Given the description of an element on the screen output the (x, y) to click on. 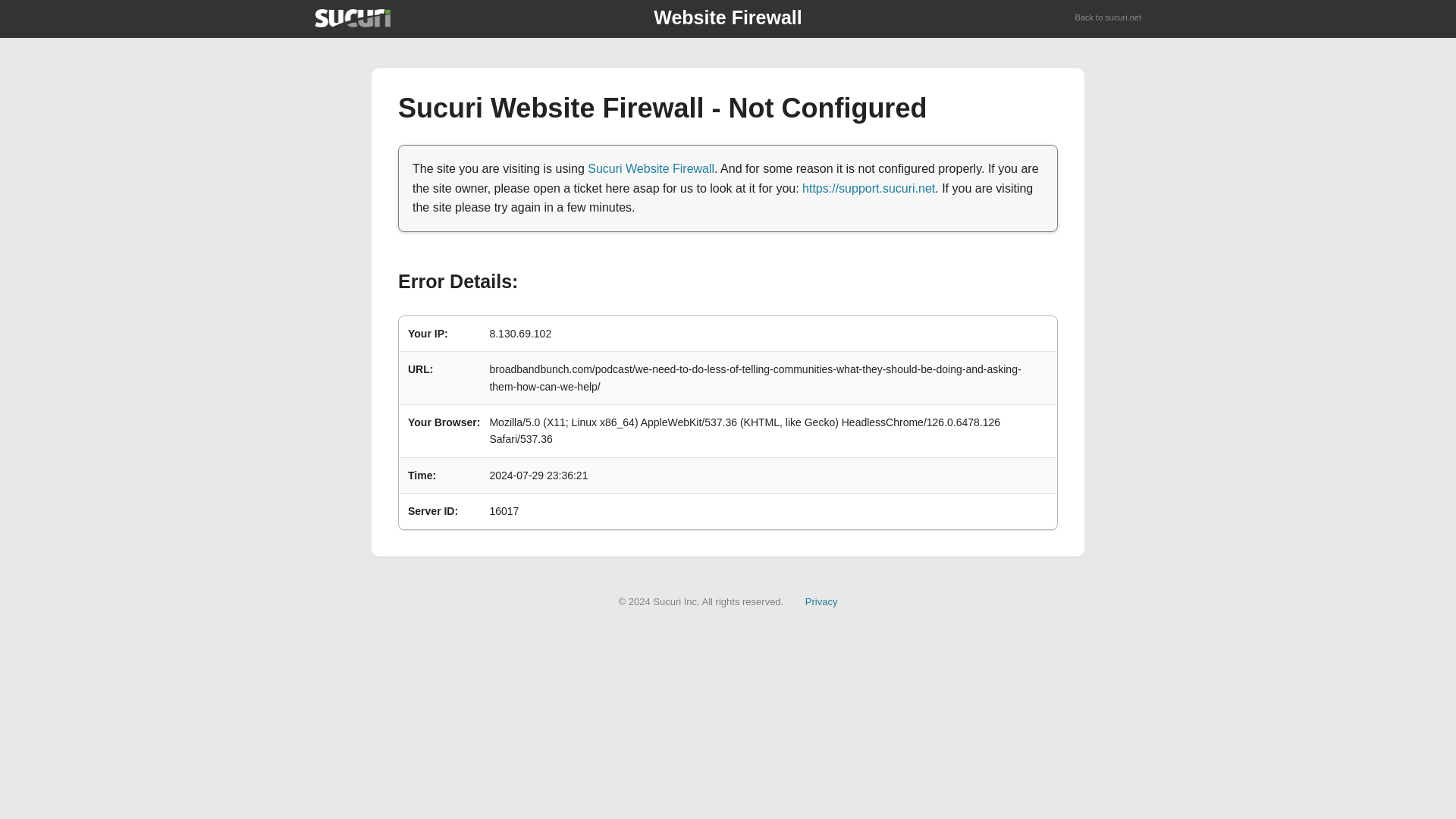
Privacy (821, 601)
Back to sucuri.net (1108, 18)
Sucuri Website Firewall (651, 168)
